Given the description of an element on the screen output the (x, y) to click on. 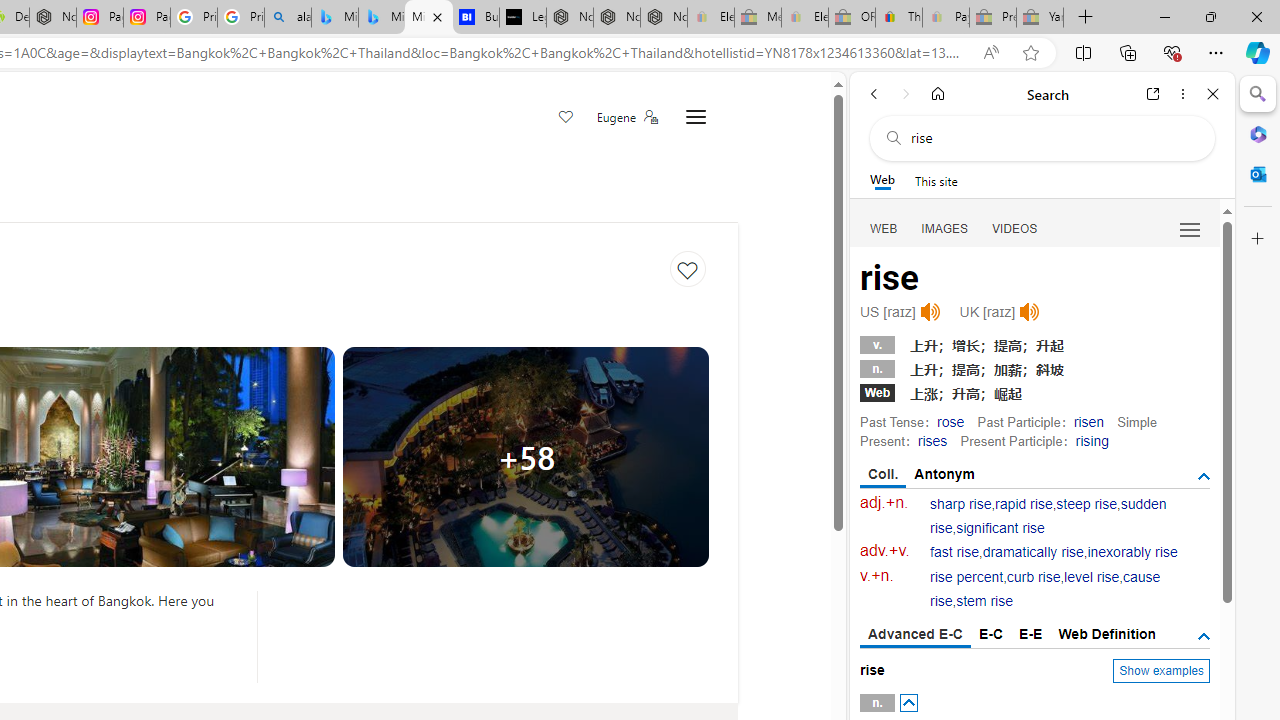
AutomationID: tgdef (1203, 636)
stem rise (984, 601)
significant rise (1000, 528)
level rise (1091, 577)
E-C (991, 633)
